Given the description of an element on the screen output the (x, y) to click on. 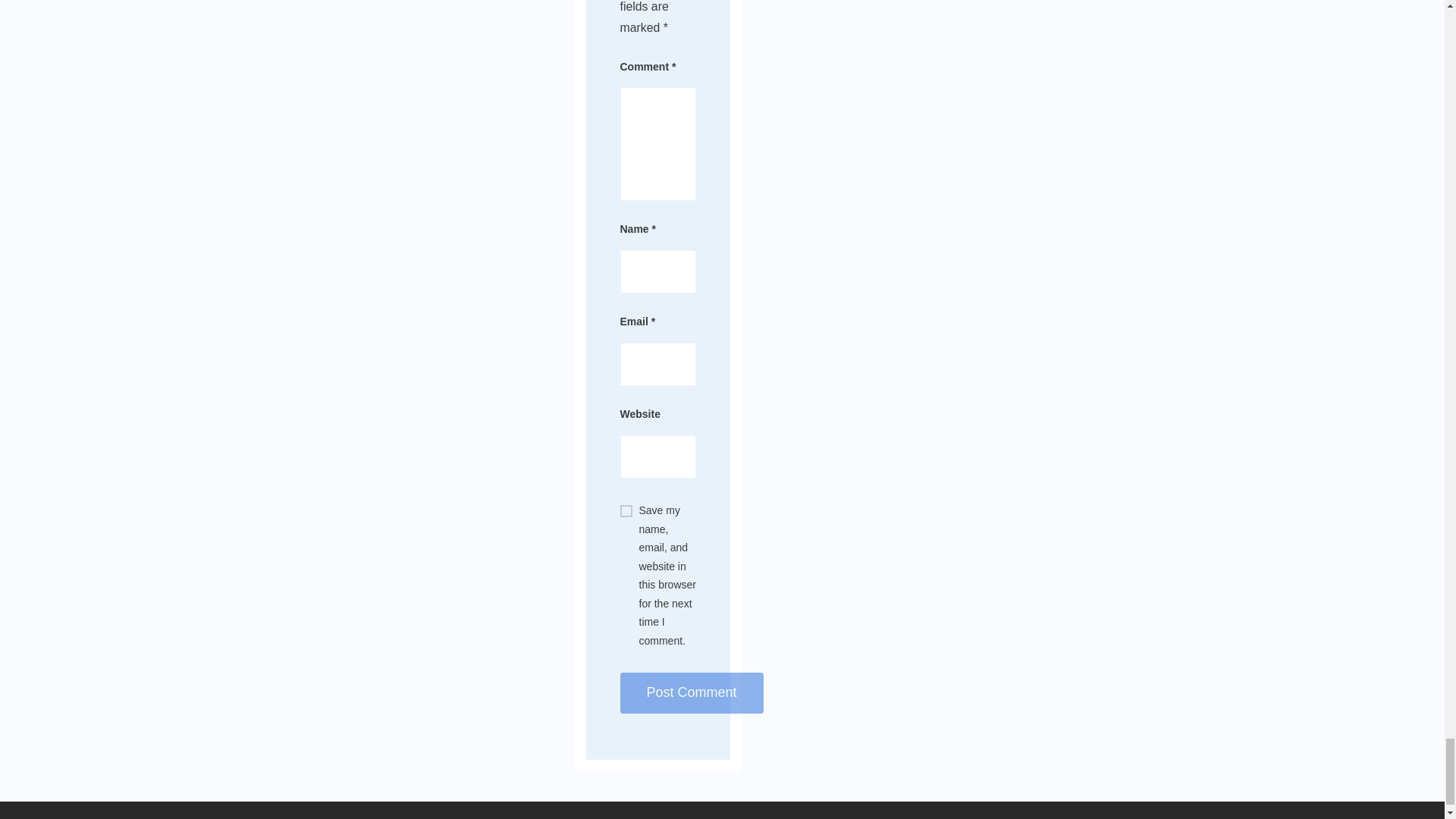
Post Comment (691, 692)
